Given the description of an element on the screen output the (x, y) to click on. 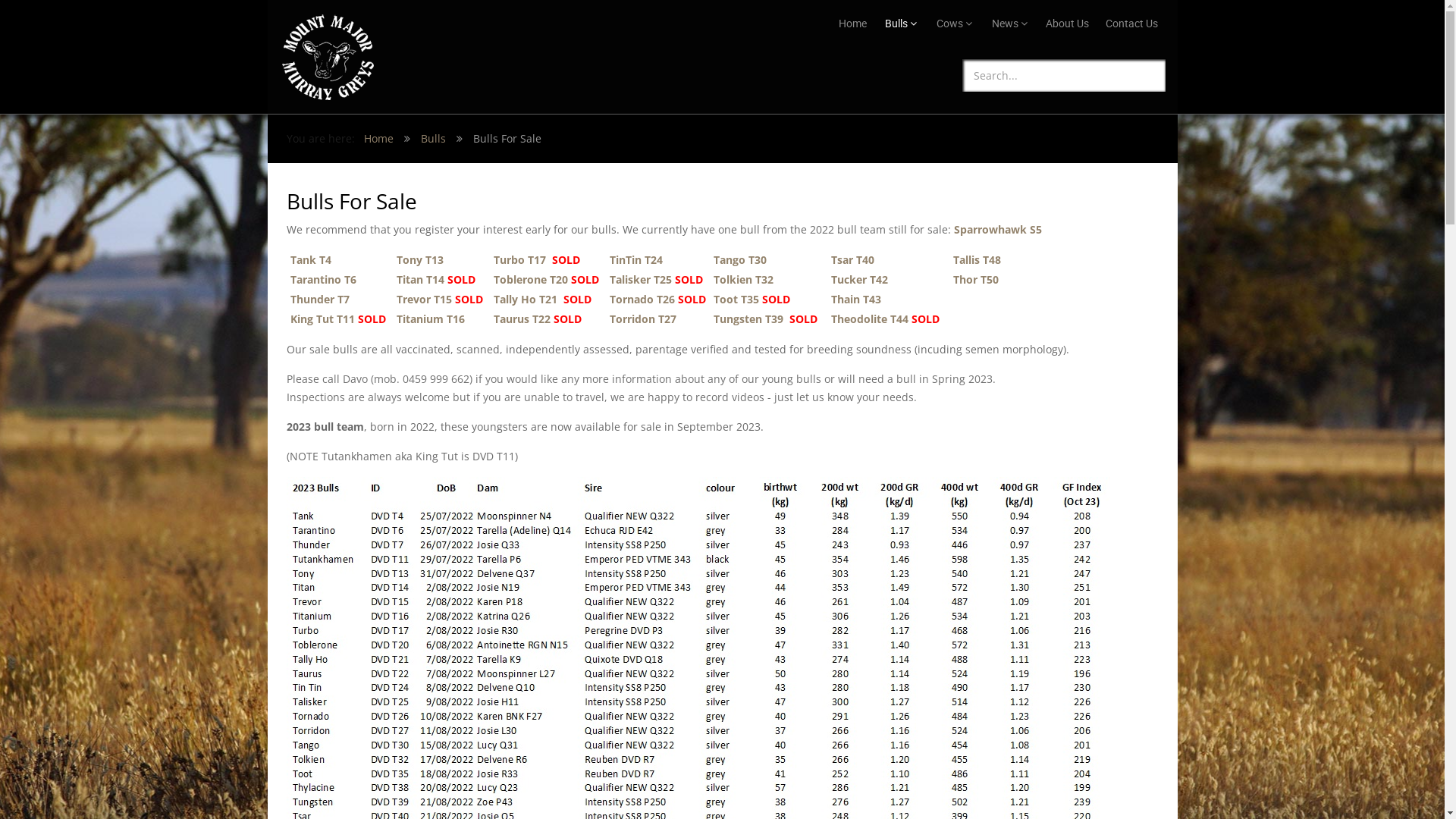
Tango T30 Element type: text (738, 259)
Tucker T42 Element type: text (859, 279)
Toblerone T20 Element type: text (529, 279)
Titanium T16 Element type: text (429, 318)
Taurus T22 Element type: text (520, 318)
King Tut T11 Element type: text (321, 318)
Torridon T27 Element type: text (642, 318)
Tolkien T32 Element type: text (742, 279)
News Element type: text (1009, 23)
Theodolite T44 Element type: text (869, 318)
Bulls Element type: text (900, 23)
Tony T13 Element type: text (418, 259)
Home Element type: text (852, 23)
Tally Ho T21 Element type: text (524, 298)
Tank T4 Element type: text (309, 259)
Toot T35 Element type: text (735, 298)
About Us Element type: text (1066, 23)
Cows Element type: text (953, 23)
TinTin T24 Element type: text (635, 259)
Talisker T25 Element type: text (640, 279)
Tungsten T39 Element type: text (747, 318)
Titan T14 Element type: text (419, 279)
 Thunder T7 Element type: text (317, 298)
Tsar T40 Element type: text (852, 259)
Trevor T15 Element type: text (423, 298)
Bulls Element type: text (432, 138)
Thor T50 Element type: text (974, 279)
Home Element type: text (378, 138)
Turbo T17 Element type: text (518, 259)
Thain T43 Element type: text (856, 298)
Tarantino T6 Element type: text (322, 279)
 Tornado T26 Element type: text (640, 298)
Tallis T48 Element type: text (976, 259)
Sparrowhawk S5 Element type: text (997, 229)
Contact Us Element type: text (1131, 23)
